Given the description of an element on the screen output the (x, y) to click on. 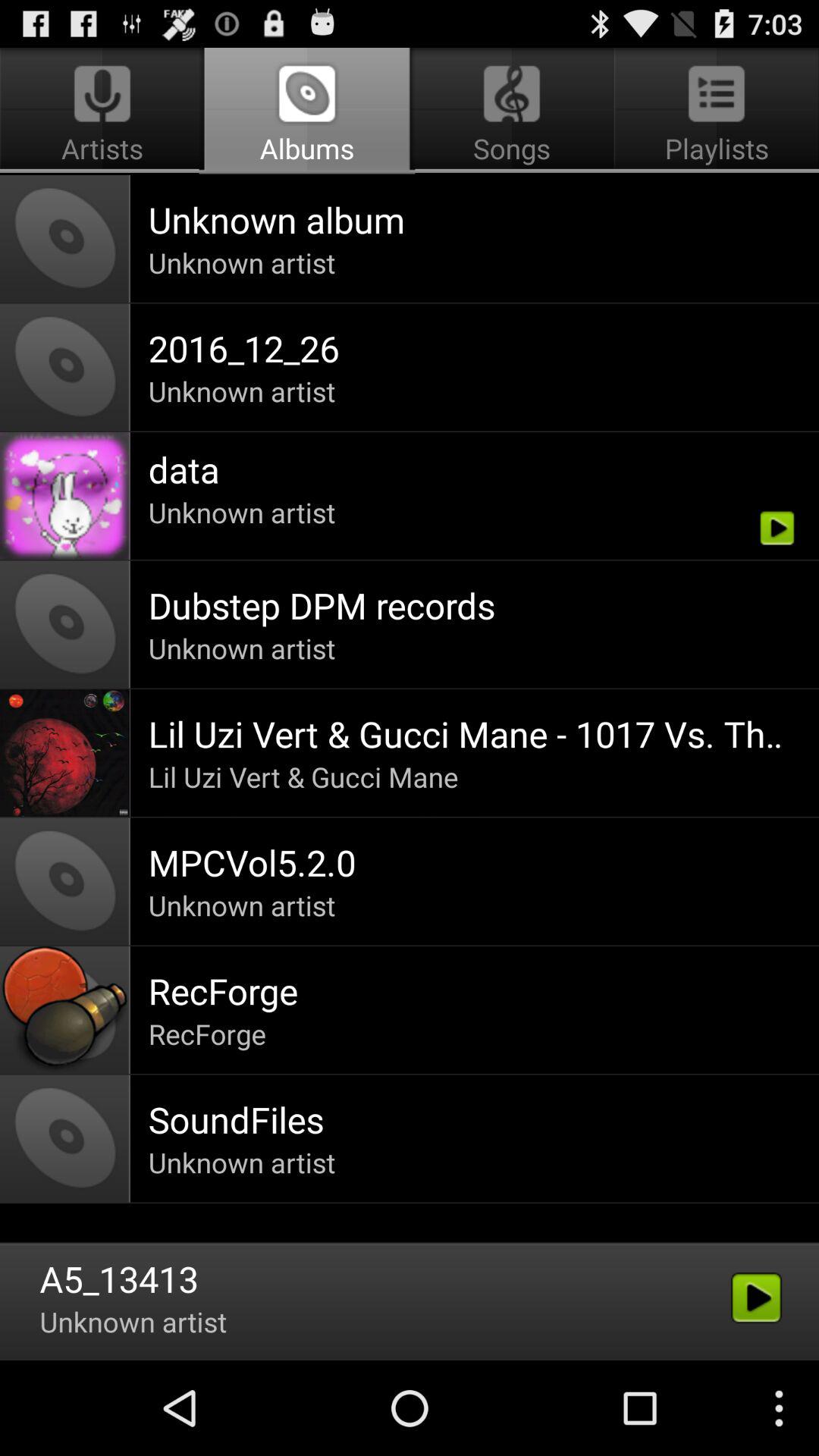
scroll to songs icon (511, 111)
